Given the description of an element on the screen output the (x, y) to click on. 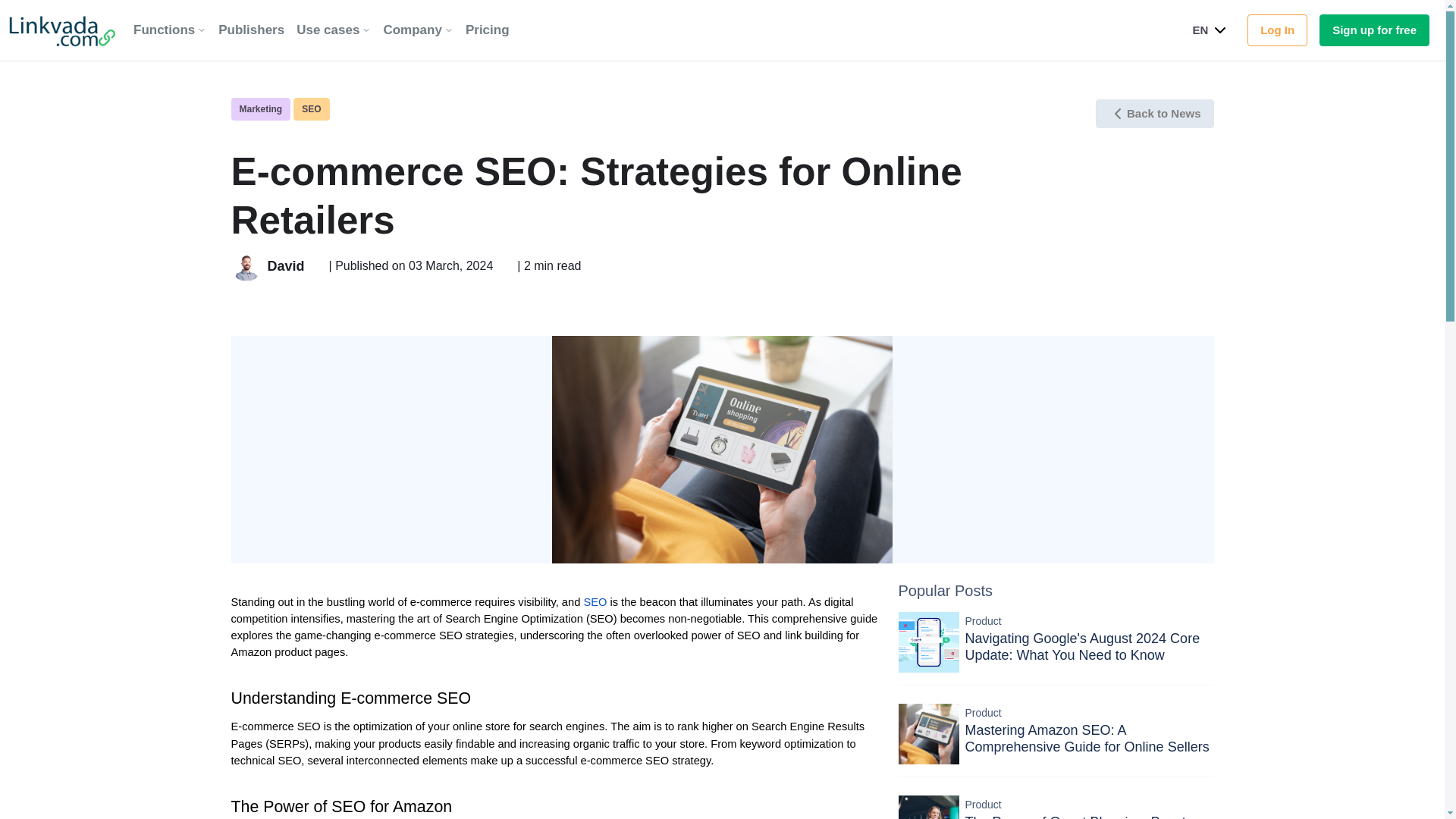
Functions (170, 30)
Pricing (487, 30)
Use cases (333, 30)
Back to News (1155, 113)
EN (1216, 30)
SEO (595, 601)
Log In (1277, 29)
Sign up for free (1374, 29)
Company (418, 30)
